Given the description of an element on the screen output the (x, y) to click on. 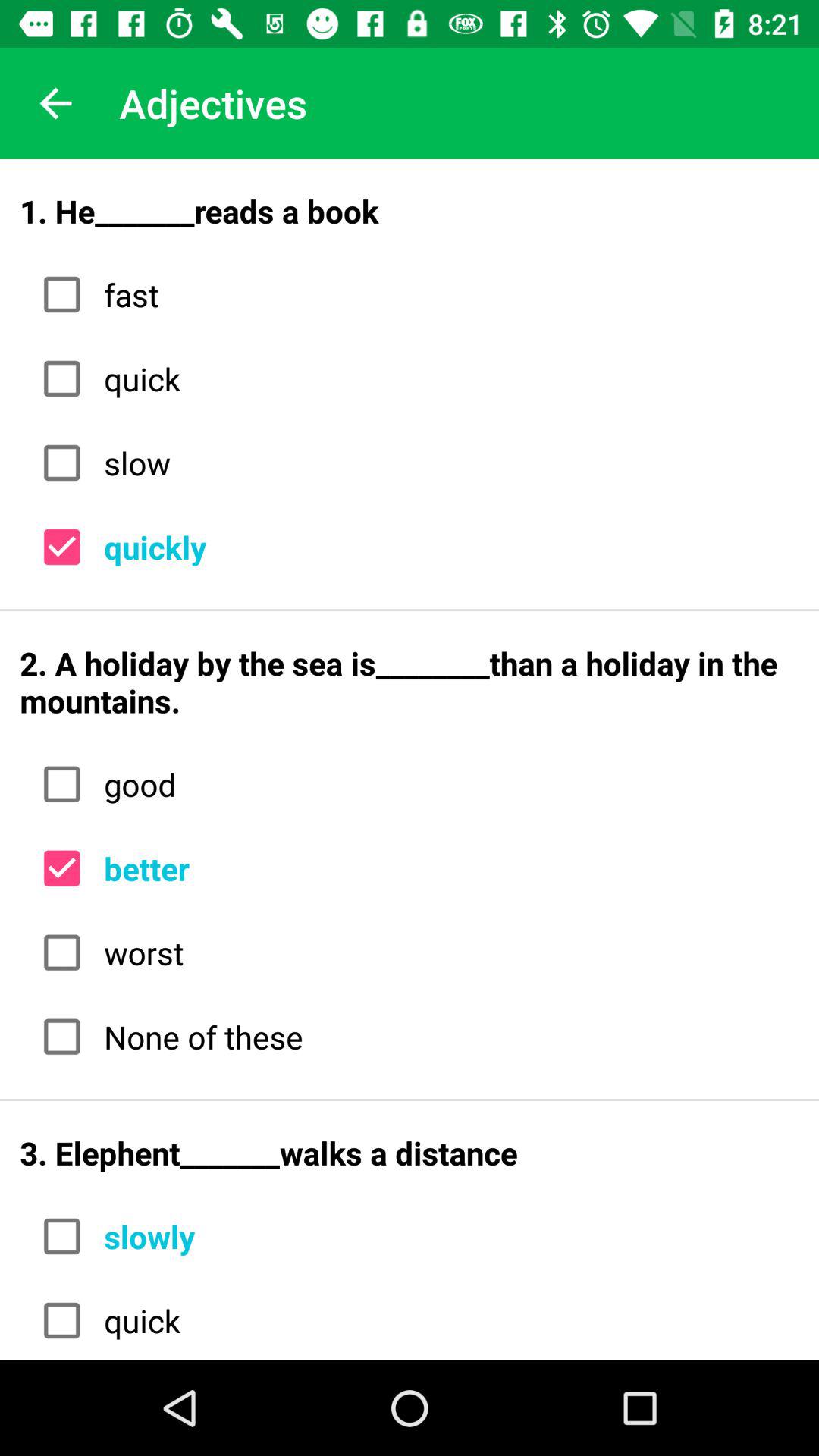
press the item above the 2 a holiday icon (446, 546)
